Given the description of an element on the screen output the (x, y) to click on. 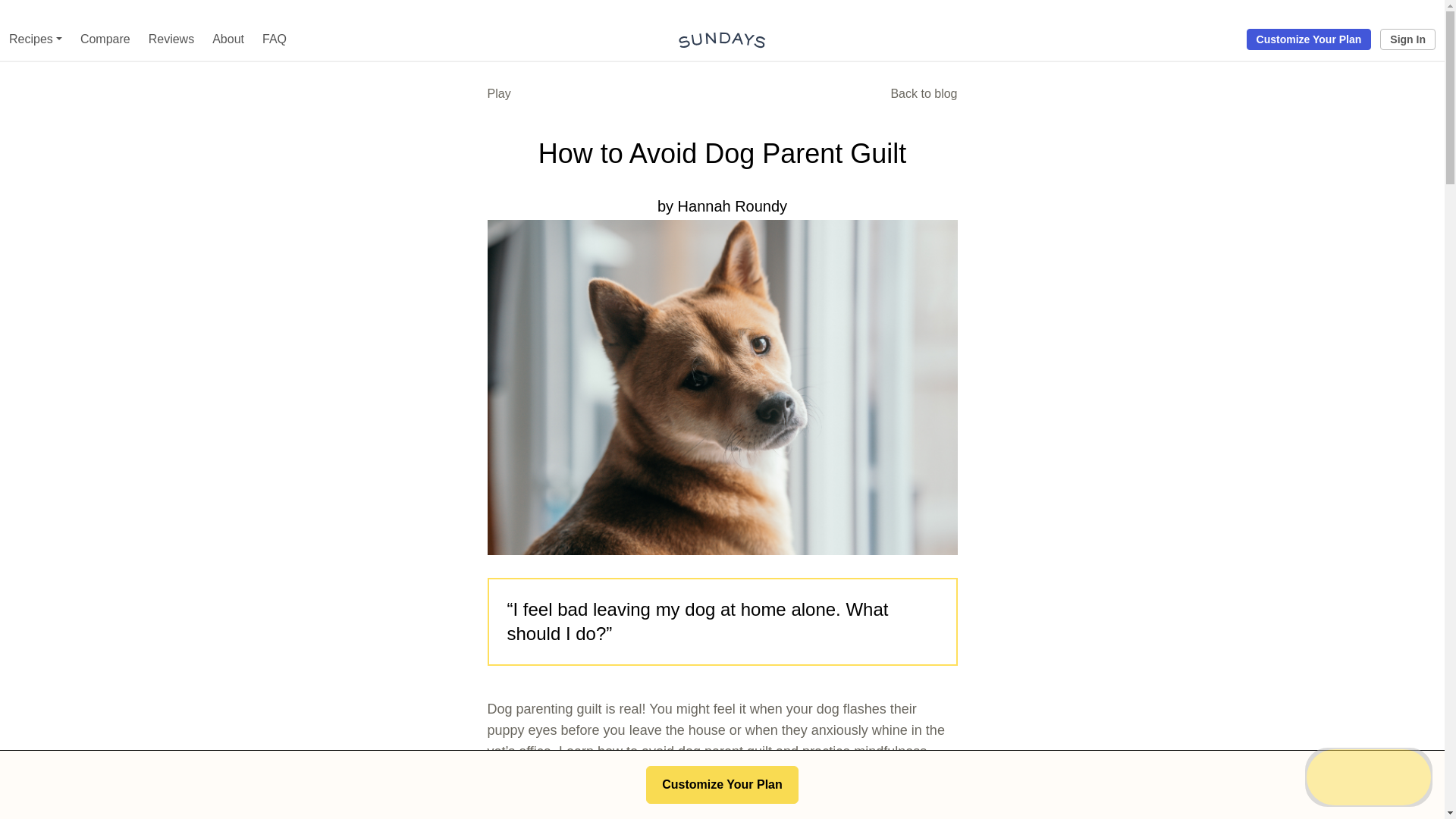
Compare (105, 38)
About (228, 38)
Play (498, 95)
Reviews (170, 38)
Sign In (1407, 38)
Open chat (1368, 776)
Recipes (35, 38)
Back to blog (922, 95)
FAQ (274, 38)
Customize Your Plan (1308, 38)
